Given the description of an element on the screen output the (x, y) to click on. 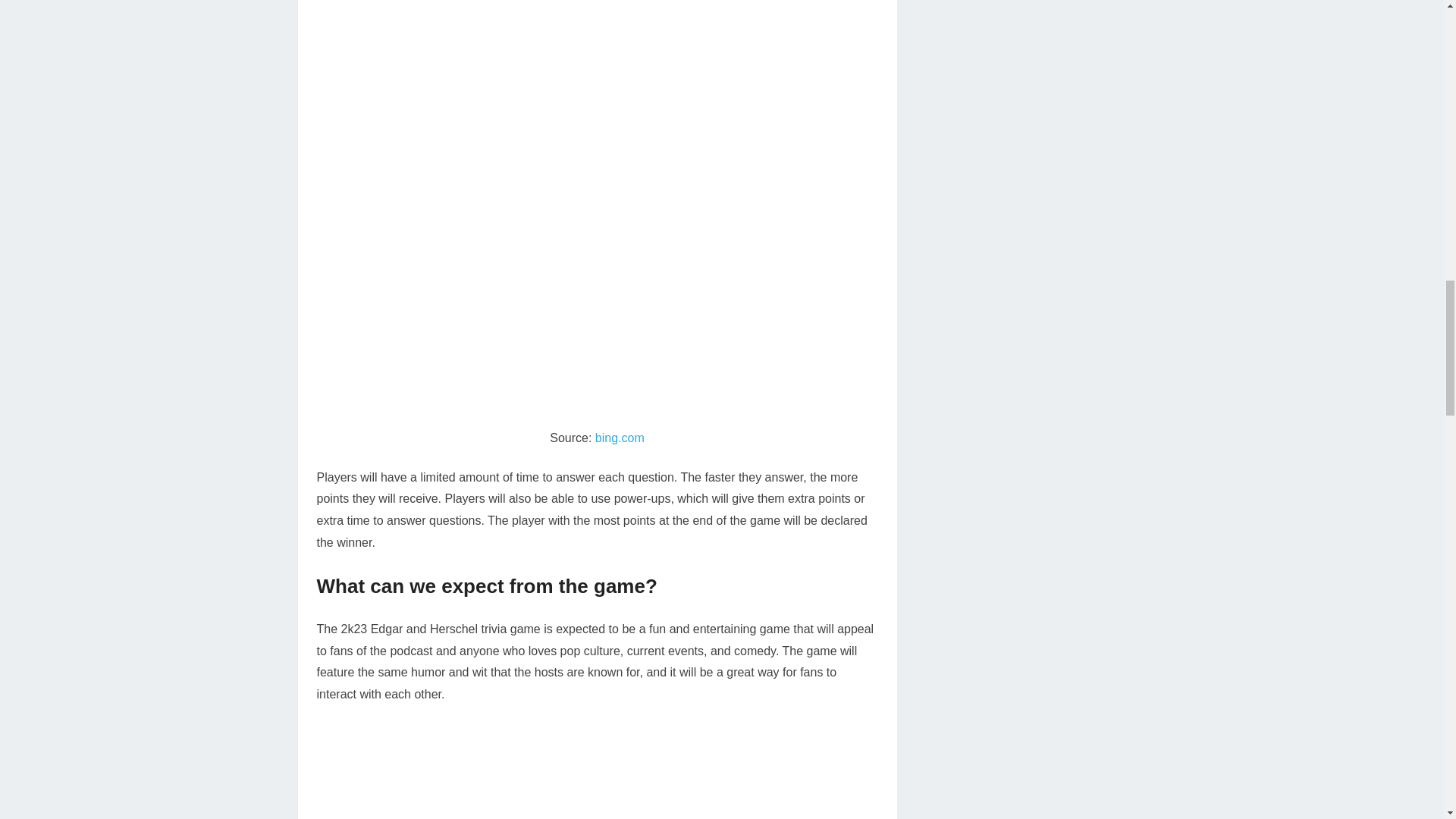
bing.com (620, 437)
